Given the description of an element on the screen output the (x, y) to click on. 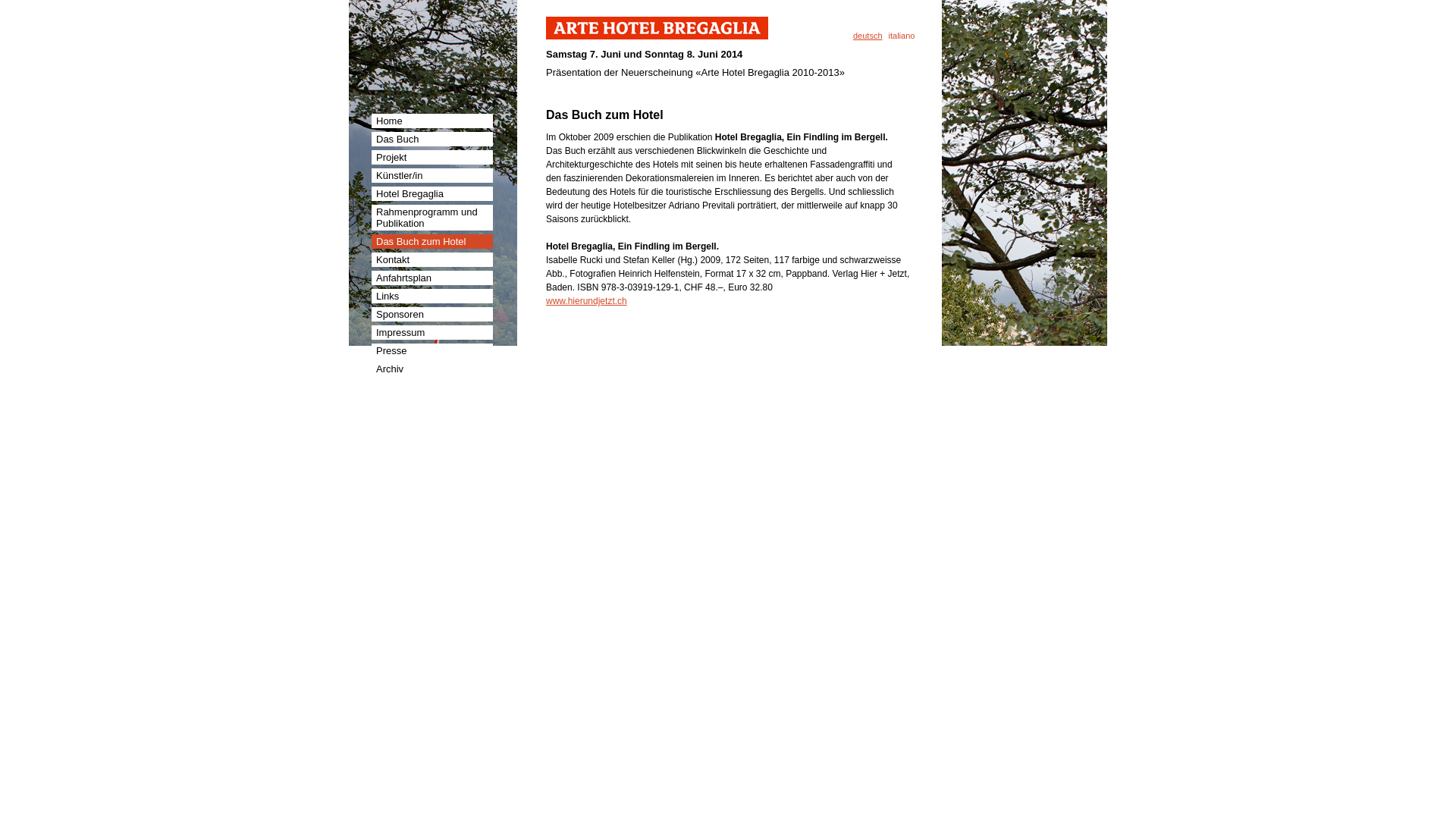
italiano Element type: text (901, 35)
Presse Element type: text (431, 350)
www.hierundjetzt.ch Element type: text (586, 300)
Das Buch Element type: text (431, 138)
Hotel Bregaglia Element type: text (431, 193)
Archiv Element type: text (431, 368)
Projekt Element type: text (431, 157)
Impressum Element type: text (431, 332)
Kontakt Element type: text (431, 259)
Rahmenprogramm und Publikation Element type: text (431, 217)
Sponsoren Element type: text (431, 314)
deutsch Element type: text (867, 35)
Links Element type: text (431, 295)
Anfahrtsplan Element type: text (431, 277)
Home Element type: text (431, 120)
Das Buch zum Hotel Element type: text (431, 241)
